Given the description of an element on the screen output the (x, y) to click on. 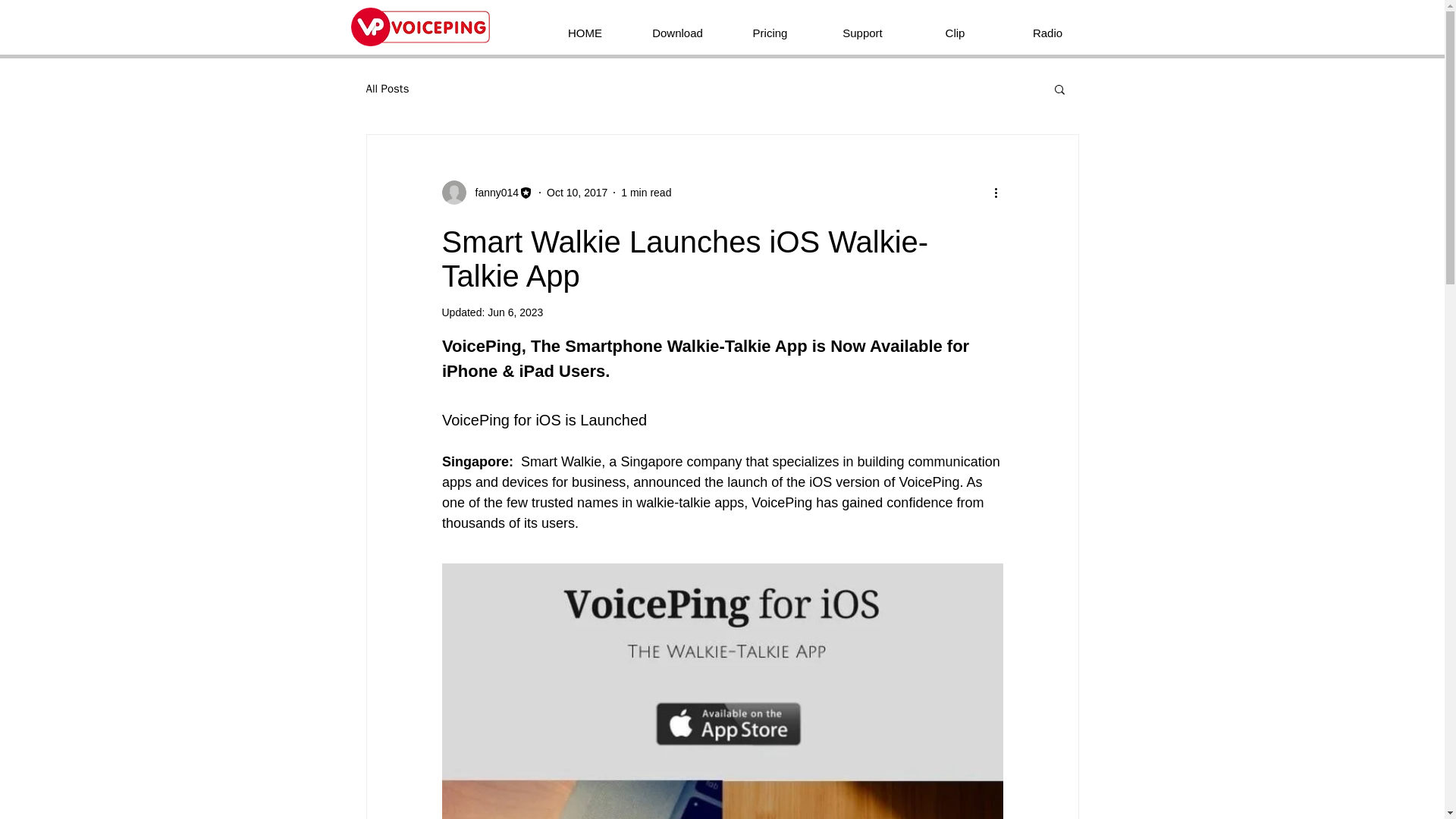
Support (861, 26)
Jun 6, 2023 (515, 312)
Radio (1047, 26)
Oct 10, 2017 (577, 192)
1 min read (646, 192)
fanny014 (486, 192)
fanny014 (491, 192)
Download (676, 26)
Clip (954, 26)
All Posts (387, 88)
HOME (584, 26)
Pricing (769, 26)
